Given the description of an element on the screen output the (x, y) to click on. 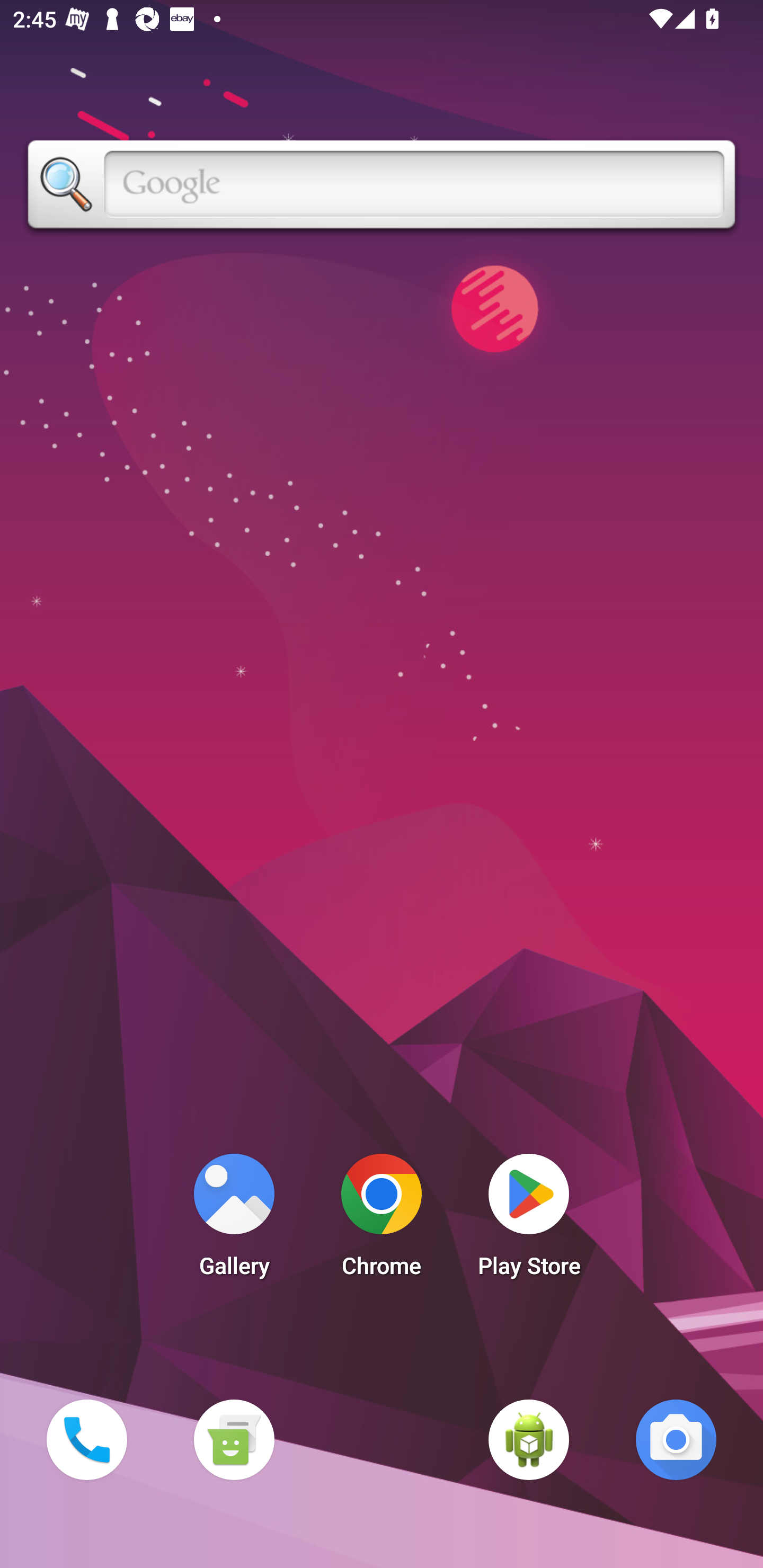
Gallery (233, 1220)
Chrome (381, 1220)
Play Store (528, 1220)
Phone (86, 1439)
Messaging (233, 1439)
WebView Browser Tester (528, 1439)
Camera (676, 1439)
